Given the description of an element on the screen output the (x, y) to click on. 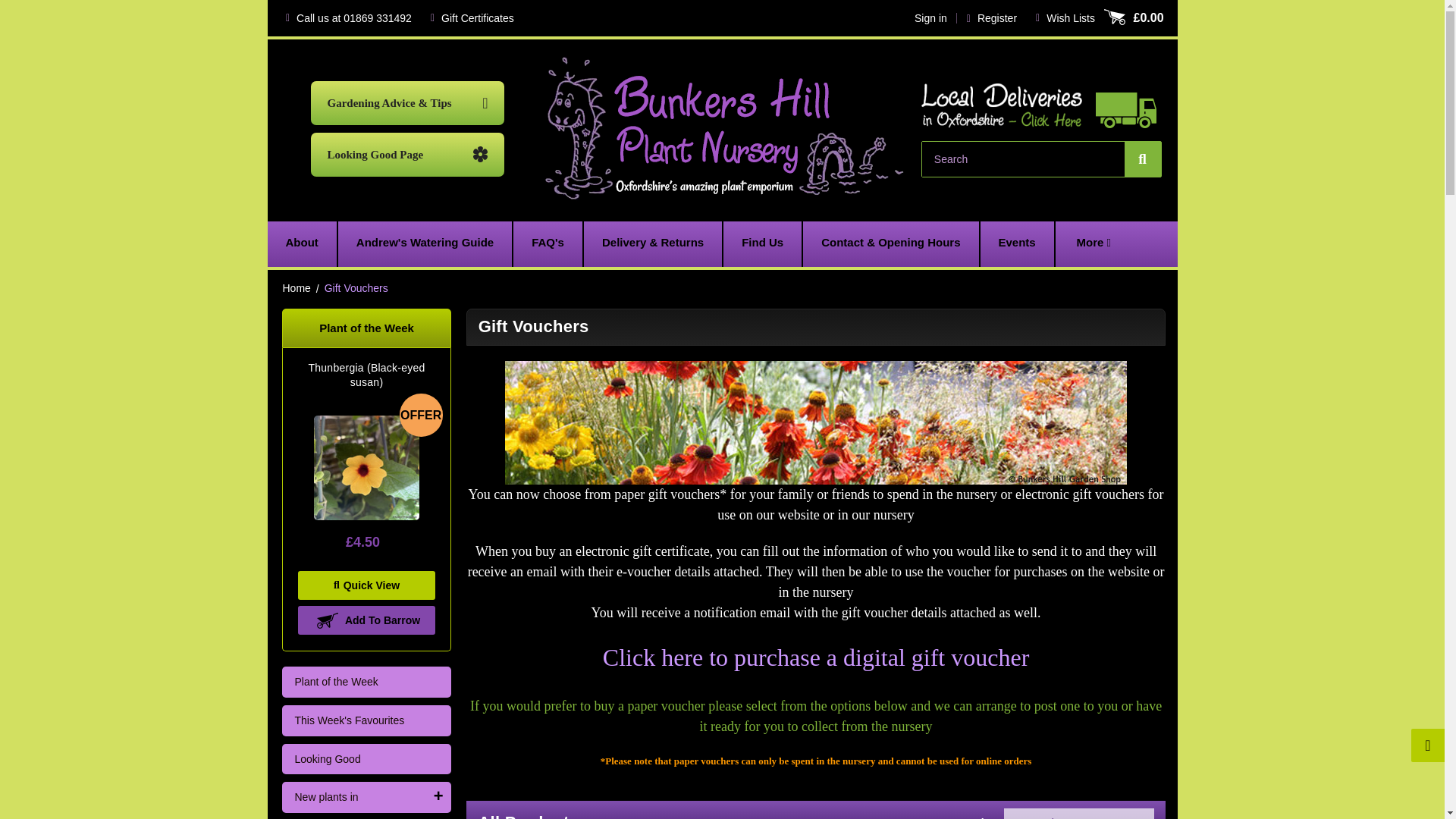
More (1093, 243)
Register (991, 18)
Gift Certificates (471, 18)
Call us at 01869 331492 (348, 18)
Sign in (930, 18)
This Week's Favourites (365, 720)
Andrew's Watering Guide (424, 243)
Wish Lists (1065, 18)
Looking Good Page (408, 154)
Bunkers Hill Plant Nursery (726, 129)
About (301, 243)
Looking Good (365, 758)
Add To Barrow (365, 620)
Events (1016, 243)
New plants in (353, 797)
